Given the description of an element on the screen output the (x, y) to click on. 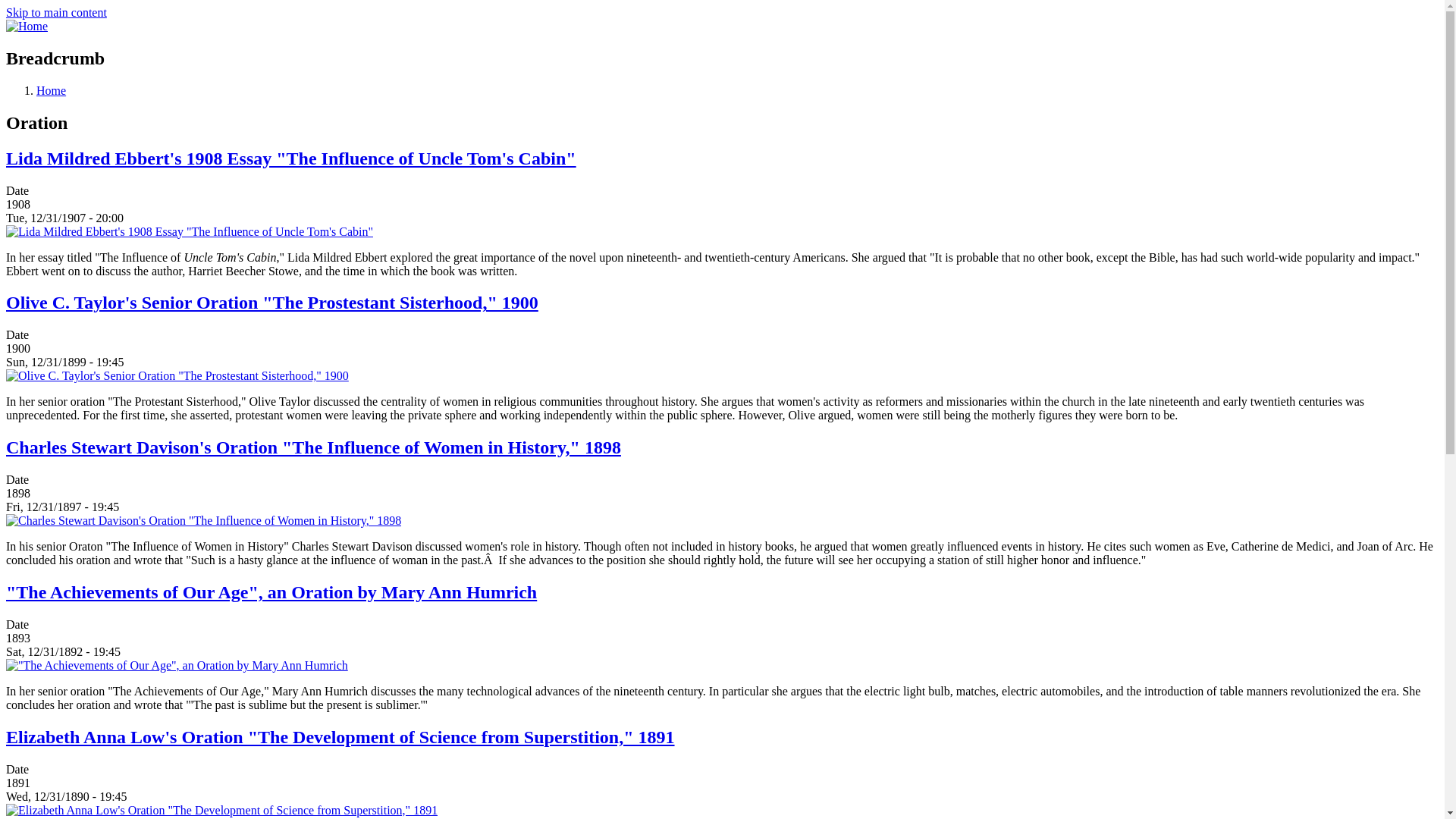
Home (50, 90)
